Given the description of an element on the screen output the (x, y) to click on. 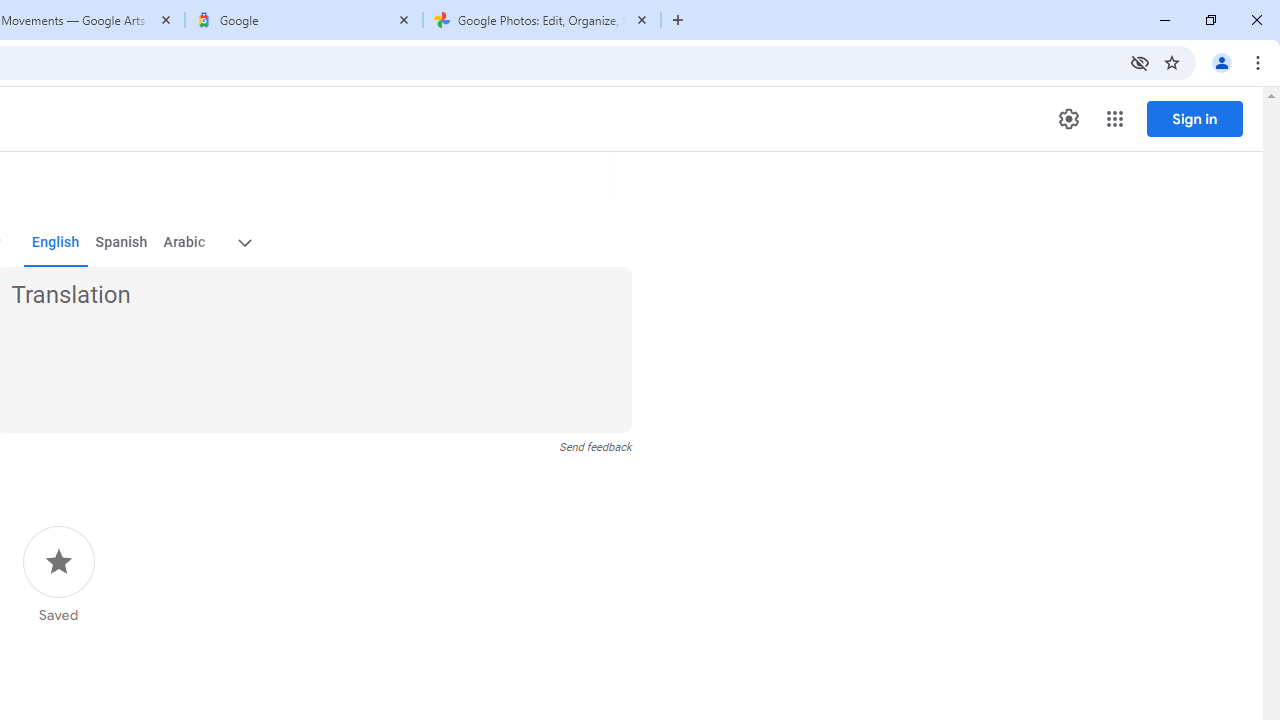
Send feedback (595, 447)
English (55, 242)
Saved (57, 575)
Google (304, 20)
Arabic (183, 242)
Spanish (121, 242)
